Given the description of an element on the screen output the (x, y) to click on. 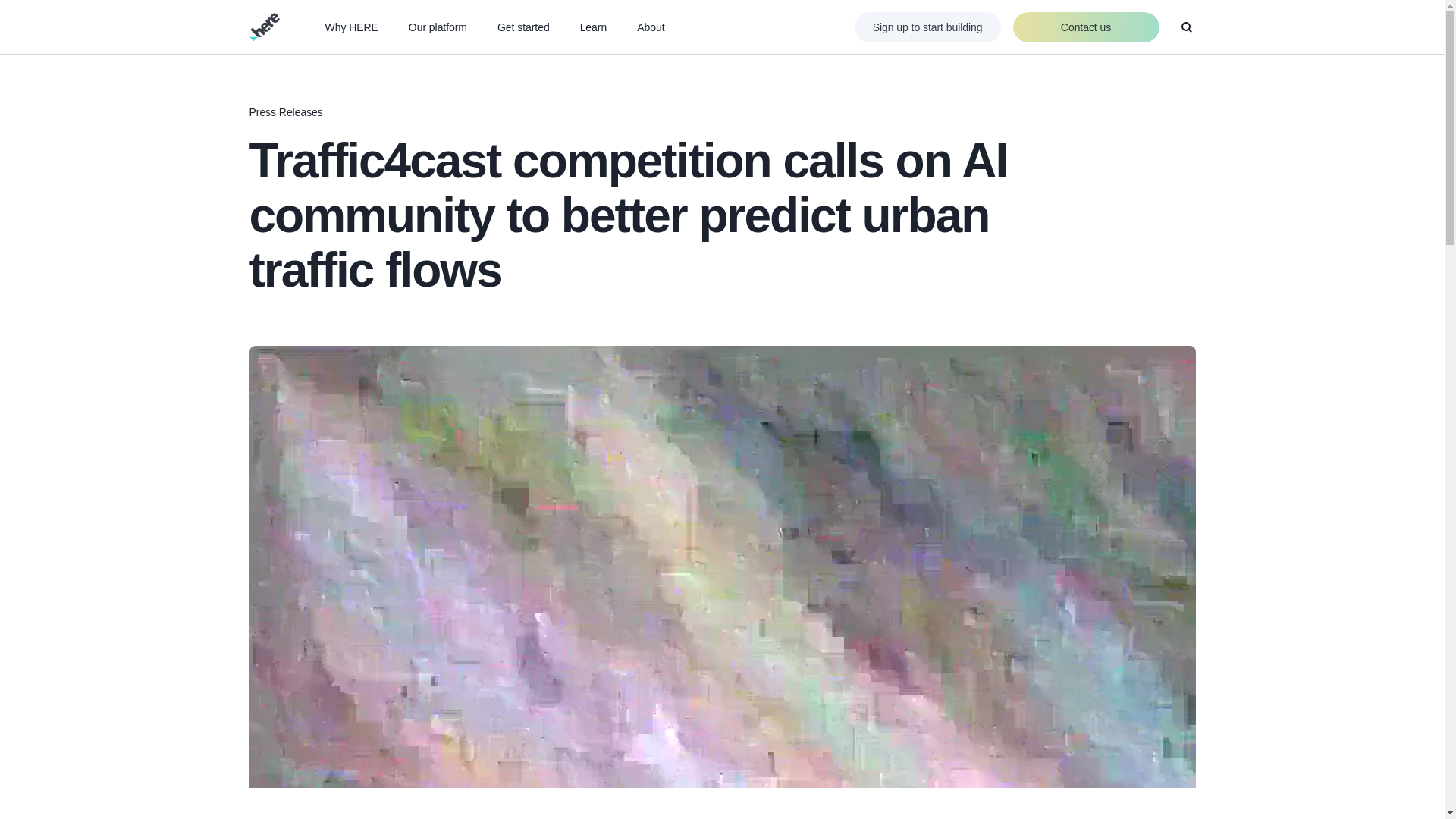
Why HERE (350, 27)
